Given the description of an element on the screen output the (x, y) to click on. 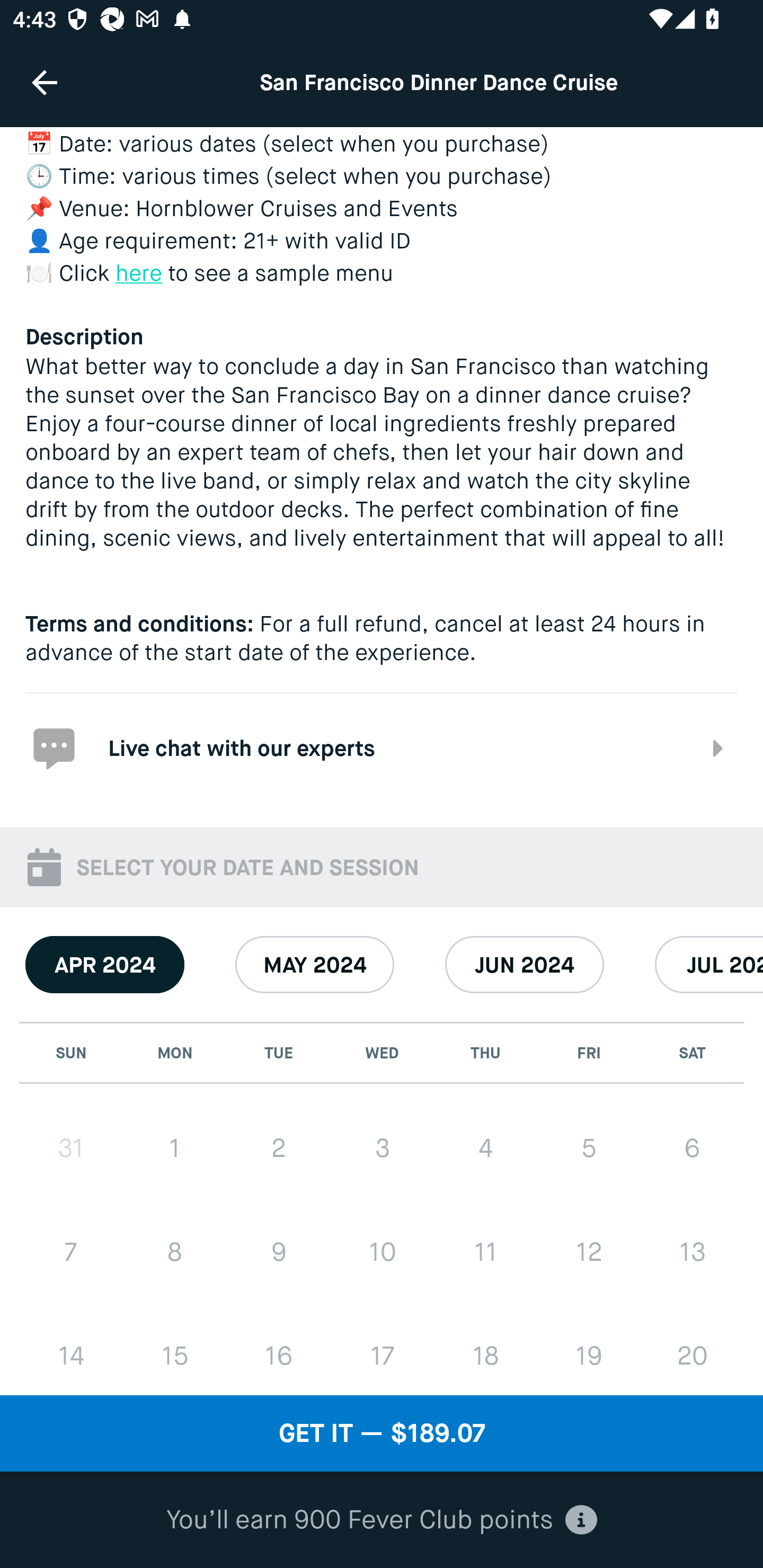
Navigate up (44, 82)
Live chat with our experts (381, 747)
APR 2024 (104, 964)
MAY 2024 (314, 964)
JUN 2024 (524, 964)
JUL 2024 (708, 964)
31 (70, 1147)
1 (174, 1147)
2 (278, 1147)
3 (382, 1147)
4 (485, 1147)
5 (588, 1147)
6 (692, 1147)
7 (70, 1252)
8 (174, 1252)
9 (278, 1252)
10 (382, 1251)
11 (485, 1251)
12 (588, 1251)
13 (692, 1251)
14 (70, 1352)
15 (174, 1352)
16 (278, 1352)
17 (382, 1352)
18 (485, 1352)
19 (588, 1352)
20 (692, 1352)
GET IT — $189.07 (381, 1433)
You’ll earn 900 Fever Club points (381, 1519)
